Given the description of an element on the screen output the (x, y) to click on. 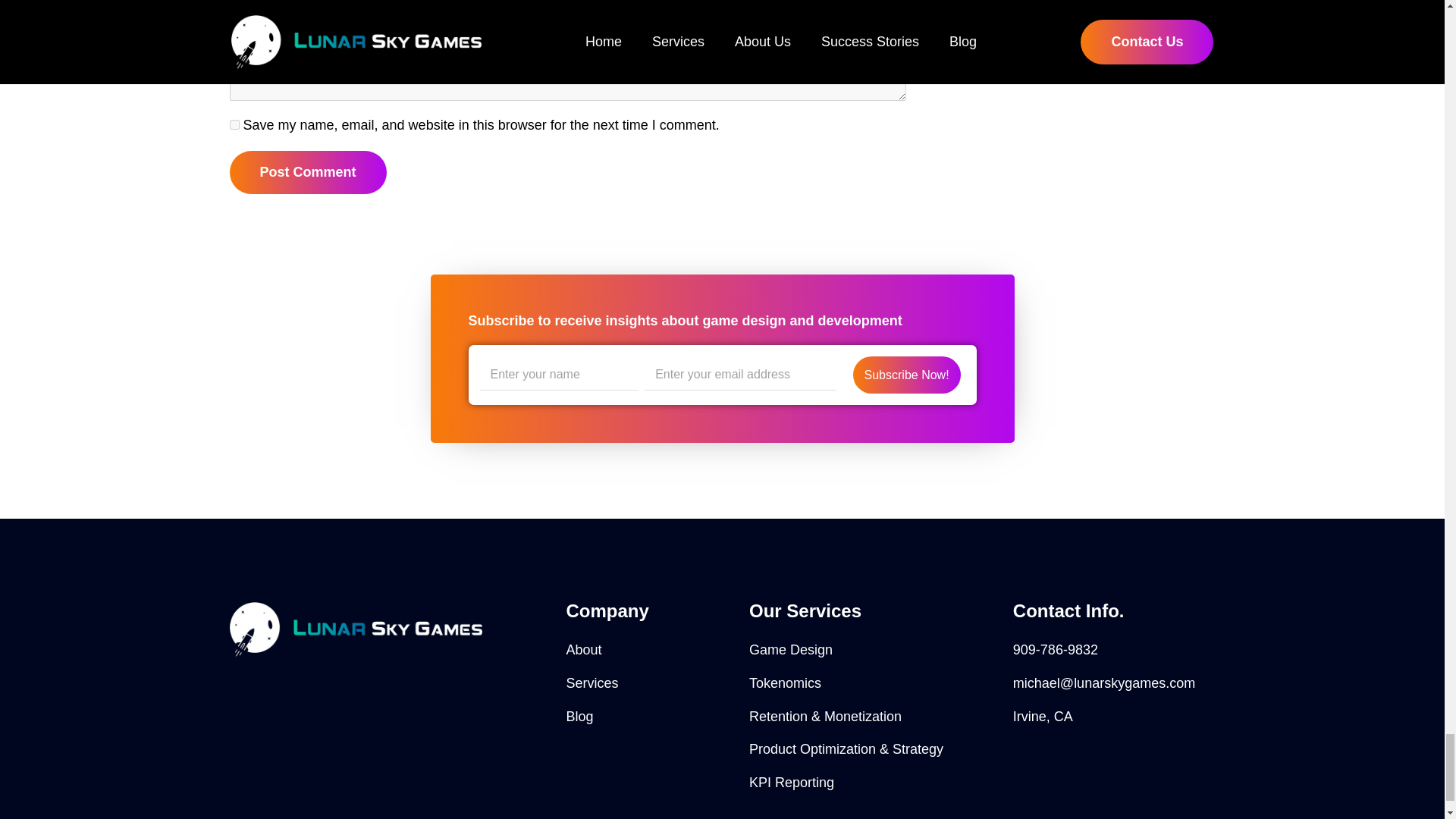
About (649, 649)
Game Design (873, 649)
Post Comment (306, 172)
Blog (649, 716)
Tokenomics (873, 683)
yes (233, 124)
Subscribe Now! (906, 374)
KPI Reporting (873, 782)
Services (649, 683)
Post Comment (306, 172)
